Given the description of an element on the screen output the (x, y) to click on. 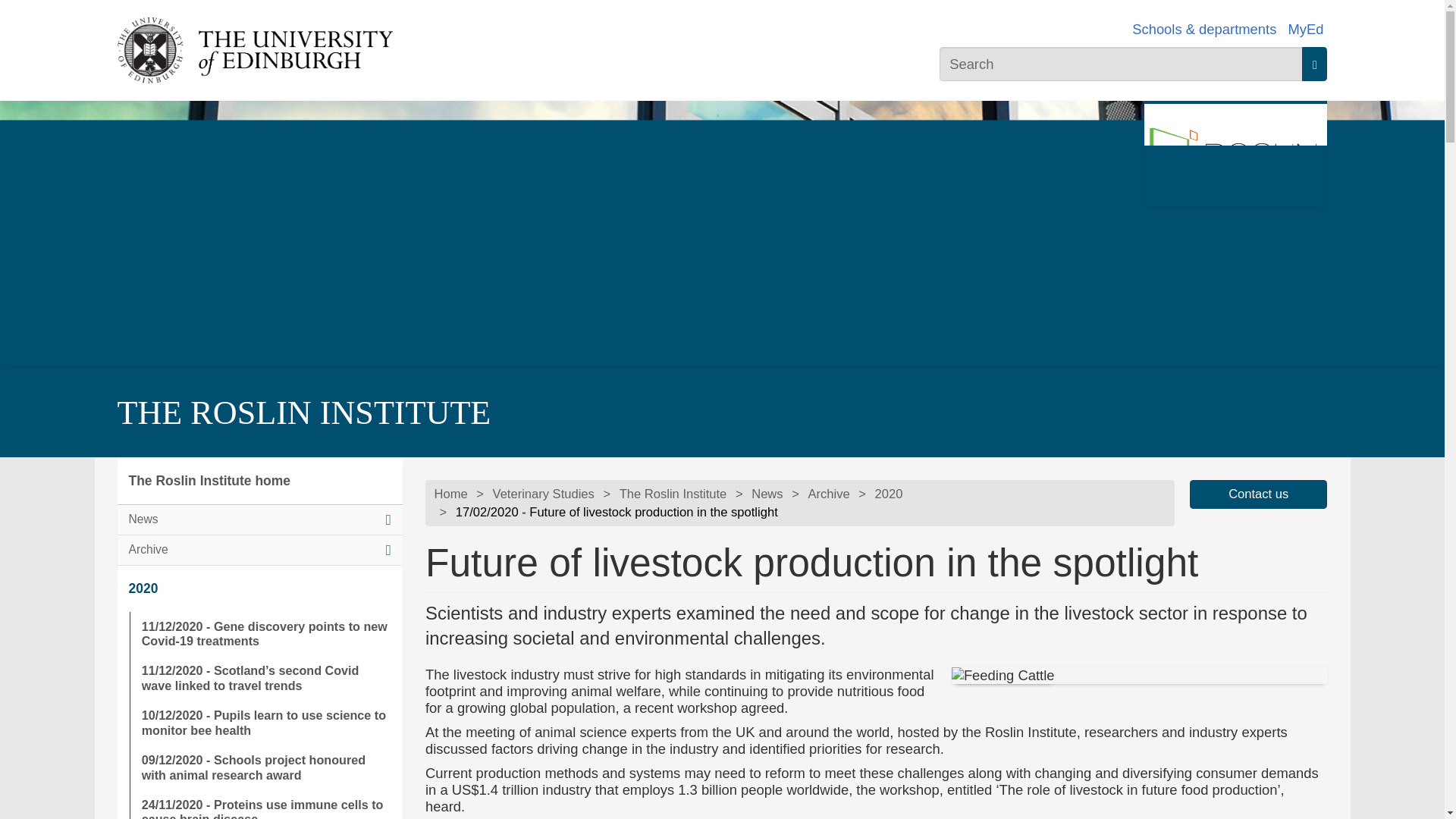
THE ROSLIN INSTITUTE (303, 412)
Archive (259, 550)
News (259, 520)
2020 (259, 588)
MyEd (1305, 28)
The Roslin Institute home (259, 481)
